Given the description of an element on the screen output the (x, y) to click on. 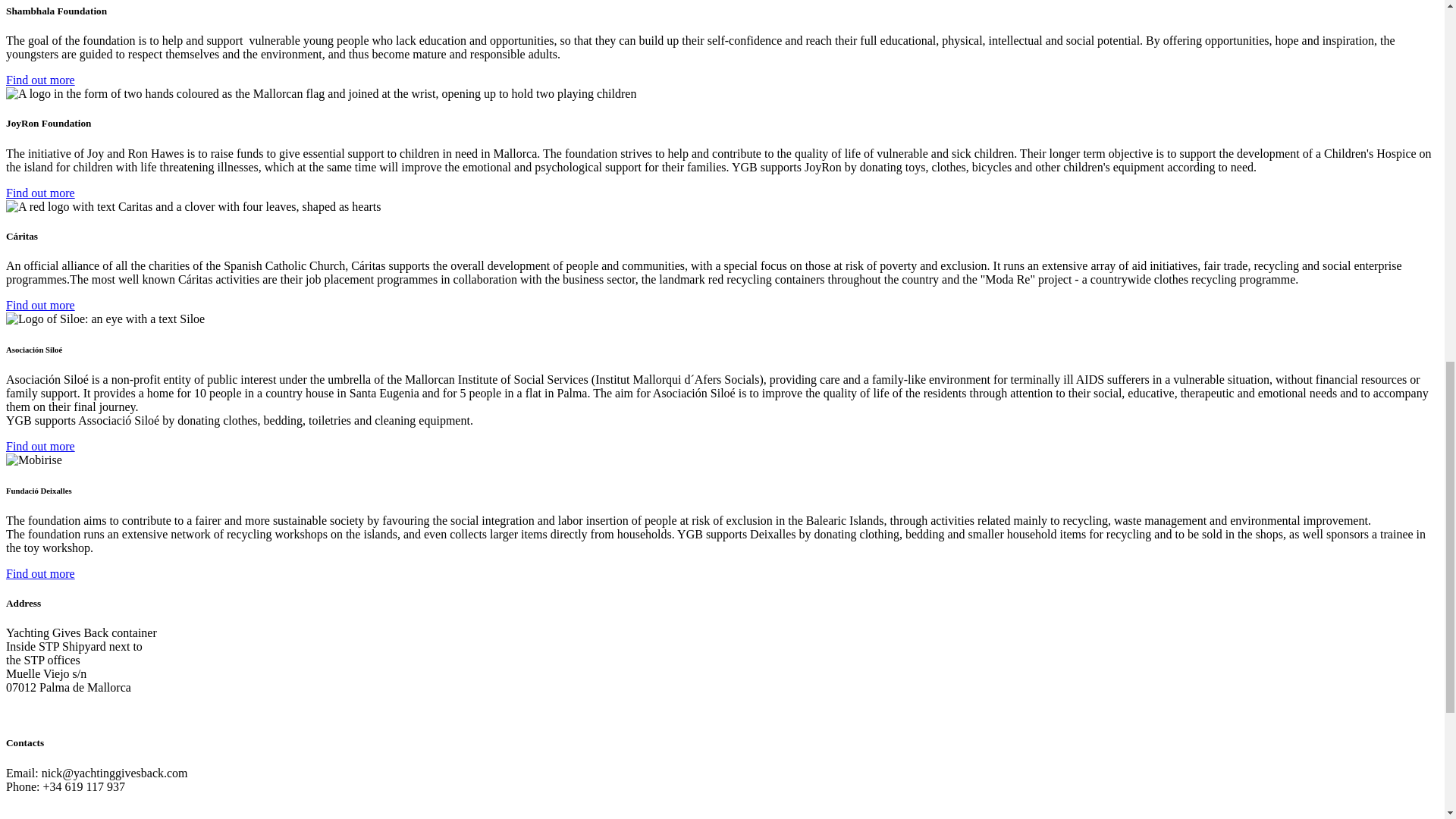
Find out more (40, 573)
Find out more (40, 445)
Find out more (40, 305)
Find out more (40, 192)
Find out more (40, 79)
